Given the description of an element on the screen output the (x, y) to click on. 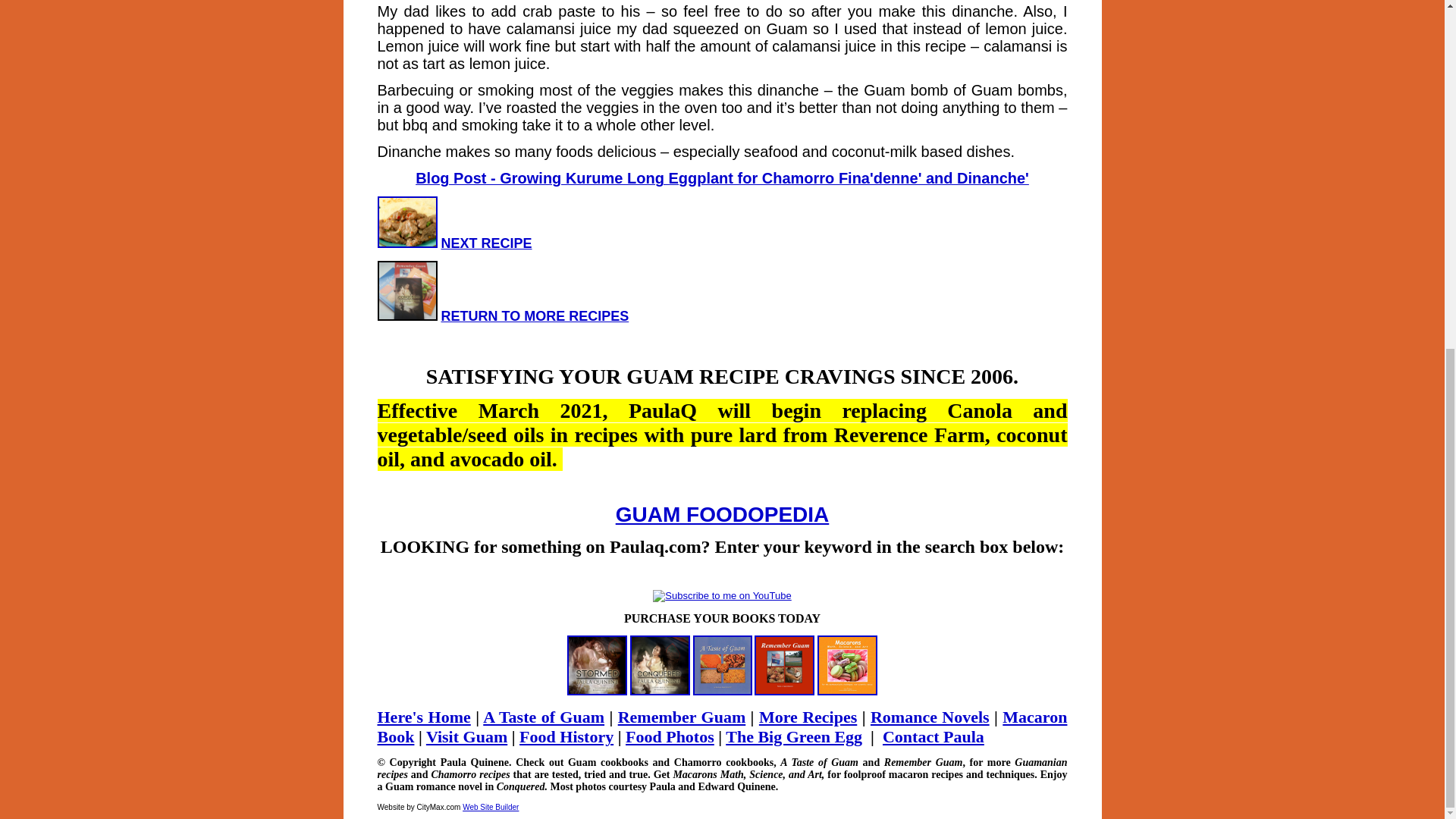
Romance Novels (930, 716)
Remember Guam (681, 716)
Food Photos (670, 736)
The Big Green Egg (793, 736)
NEXT RECIPE (486, 242)
RETURN TO MORE RECIPES (534, 315)
Visit Guam (466, 736)
Food History (565, 736)
Here's Home (423, 716)
A Taste of Guam (543, 716)
Contact Paula (933, 736)
GUAM FOODOPEDIA (722, 514)
Macaron Book (722, 726)
More Recipes (807, 716)
Web Site Builder (490, 807)
